Given the description of an element on the screen output the (x, y) to click on. 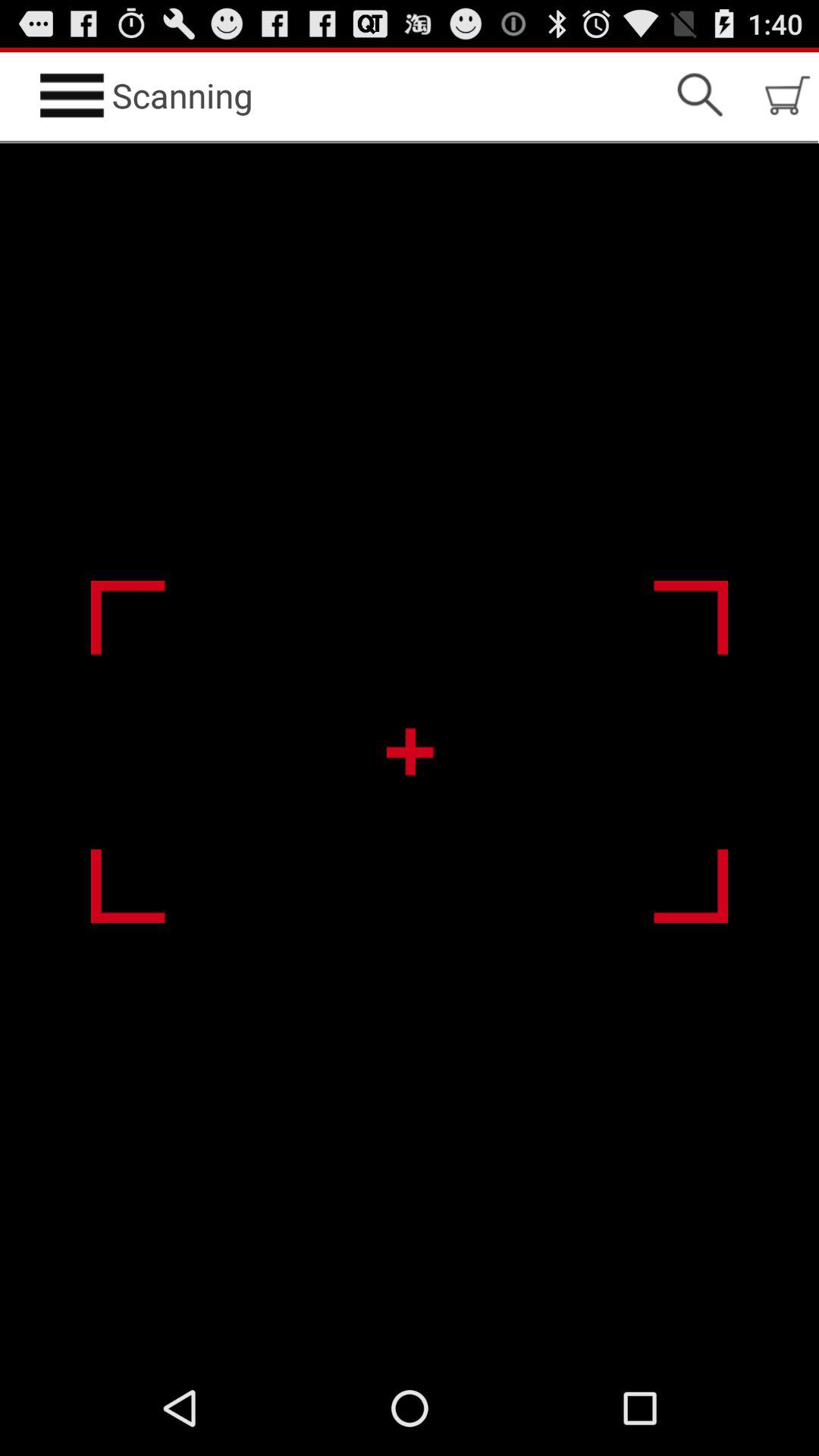
open the app to the right of scanning (699, 95)
